Given the description of an element on the screen output the (x, y) to click on. 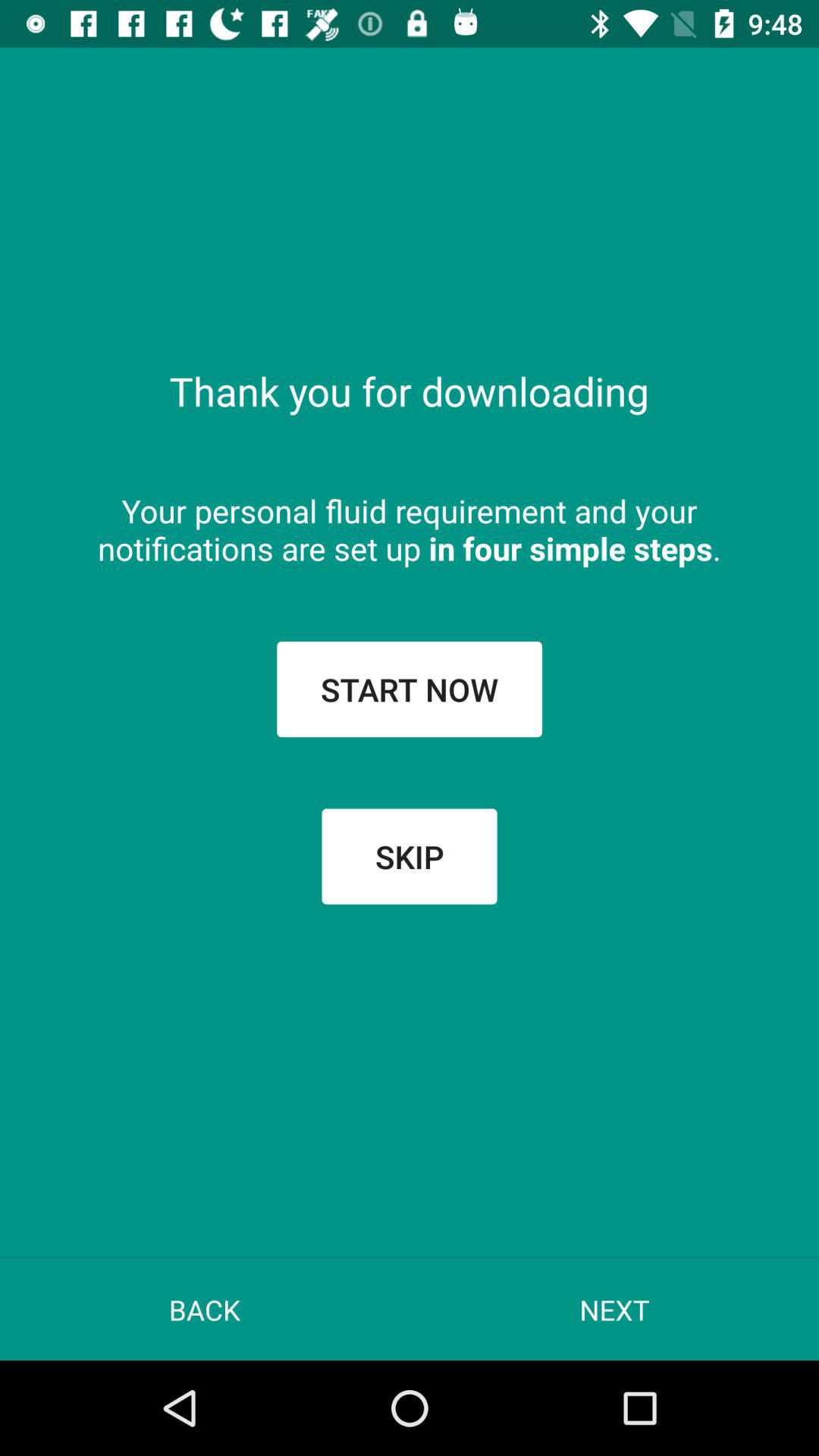
turn on item to the left of the next app (204, 1309)
